Given the description of an element on the screen output the (x, y) to click on. 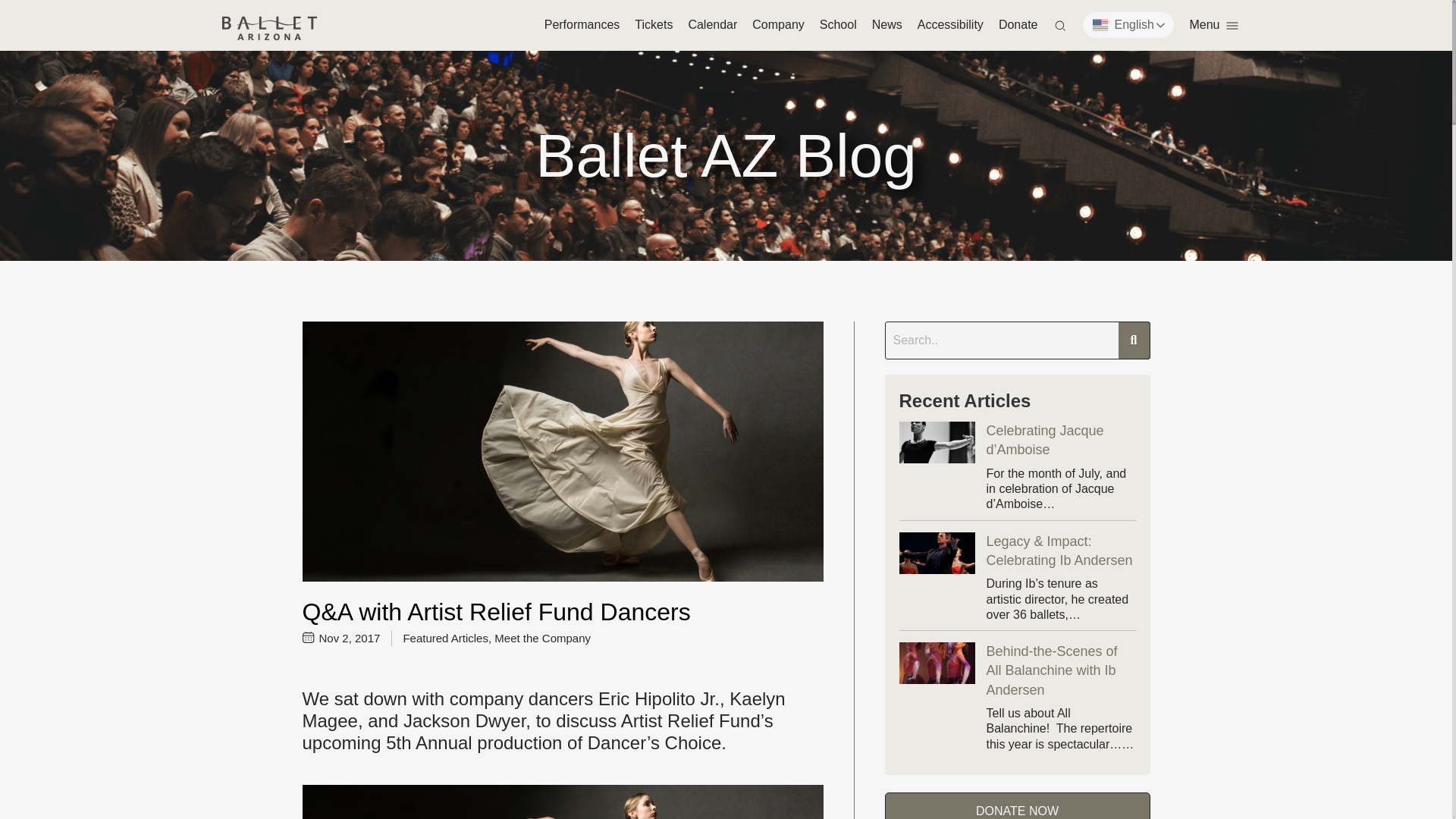
Performances (582, 24)
Tickets (653, 24)
English (1147, 24)
Donate (1018, 24)
Company (777, 24)
School (838, 24)
News (887, 24)
Menu (1213, 24)
Calendar (711, 24)
Accessibility (950, 24)
